Given the description of an element on the screen output the (x, y) to click on. 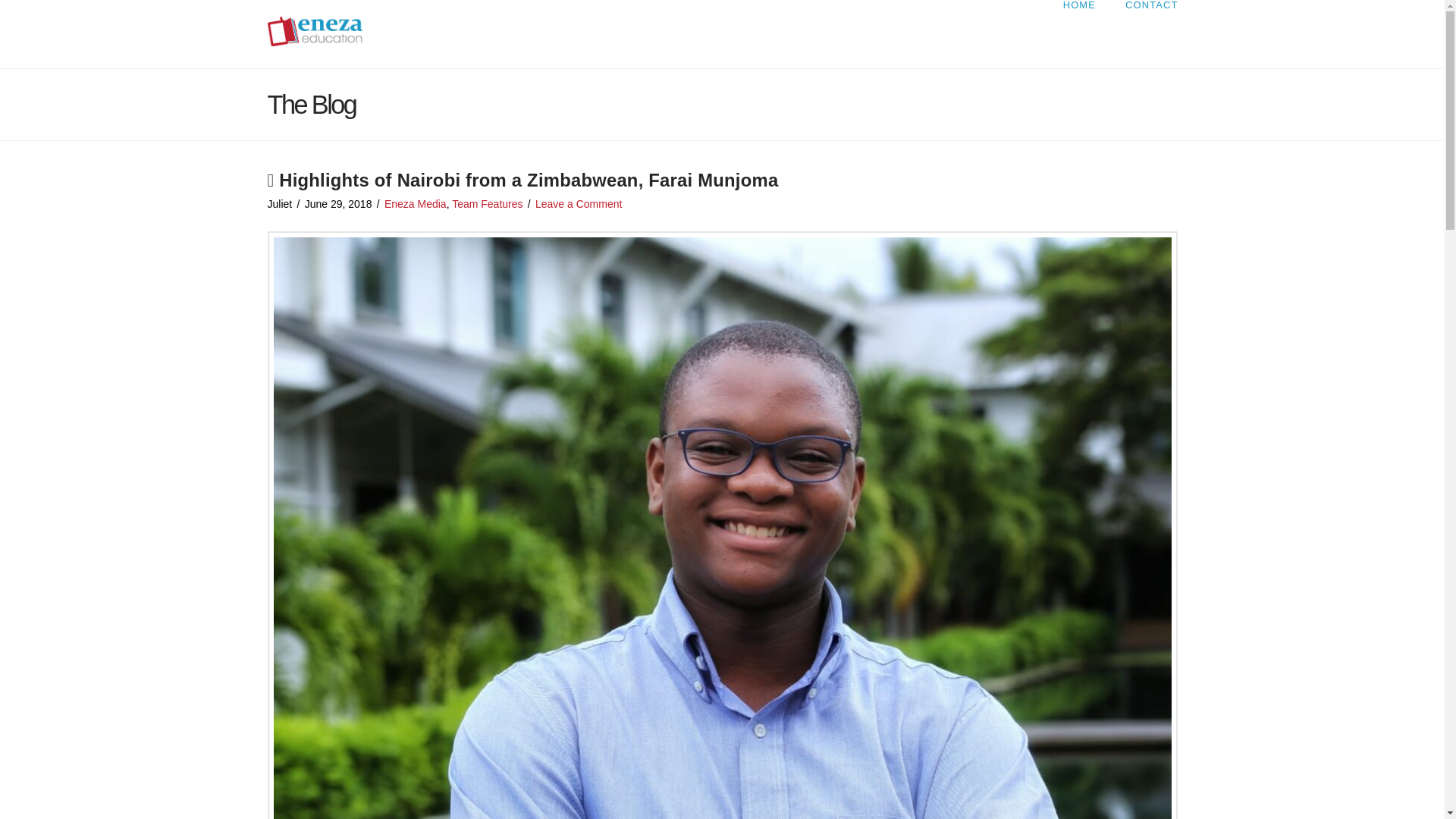
Eneza Media (415, 203)
HOME (1078, 33)
Leave a Comment (578, 203)
CONTACT (1143, 33)
Team Features (486, 203)
